Given the description of an element on the screen output the (x, y) to click on. 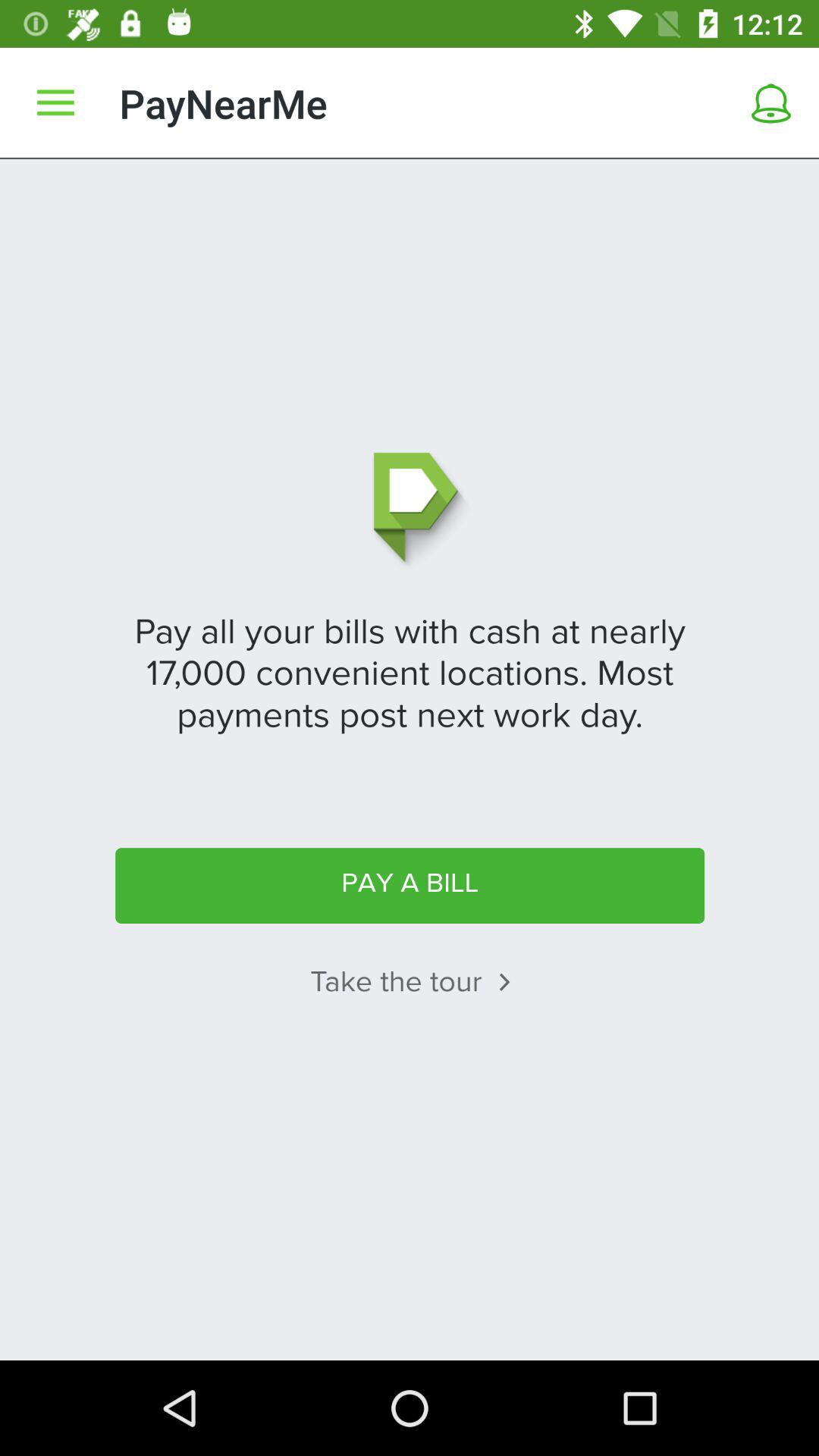
select a tool (771, 103)
